Given the description of an element on the screen output the (x, y) to click on. 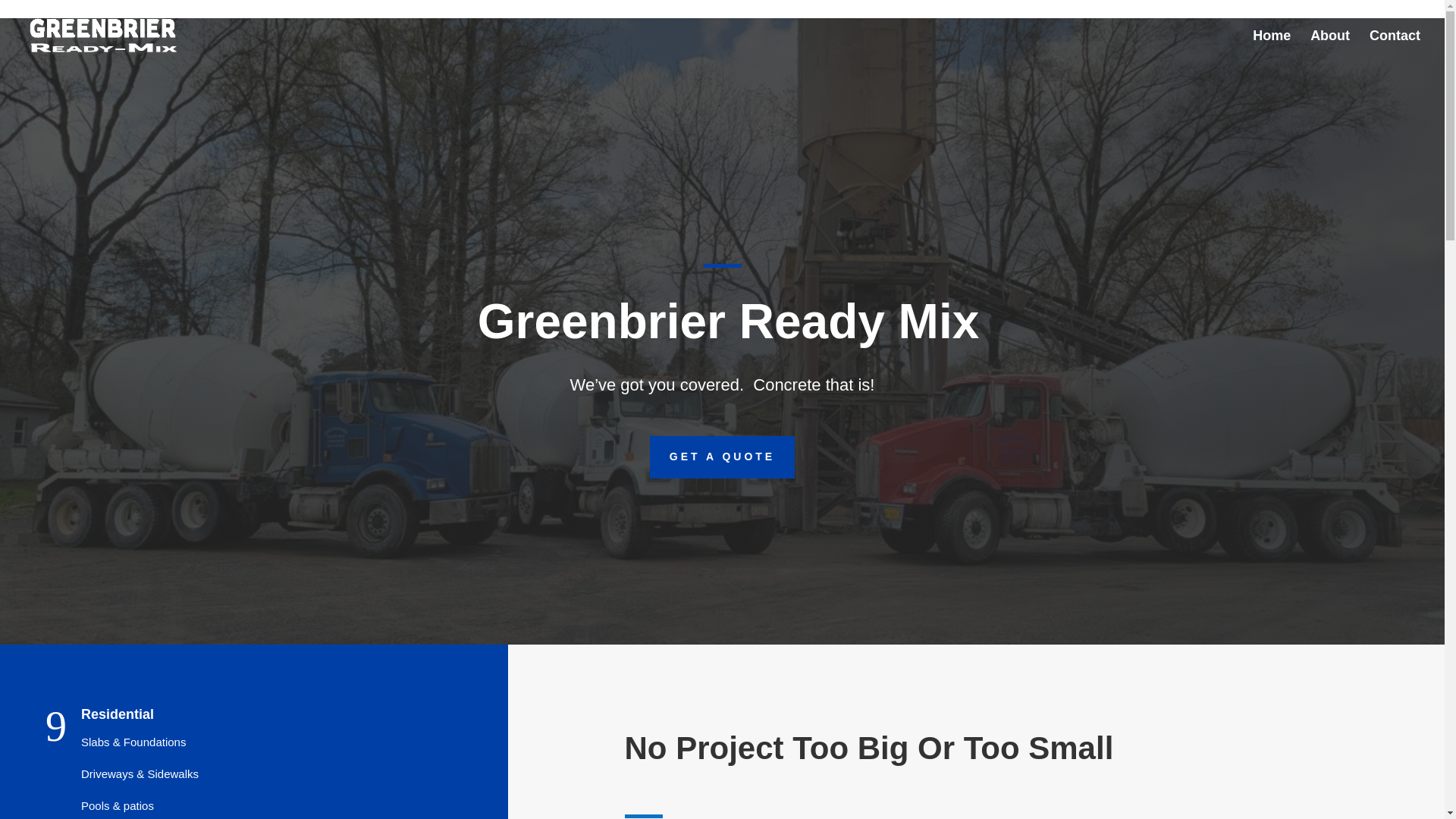
Home (1271, 50)
Contact (1395, 50)
About (1329, 50)
GET A QUOTE (721, 456)
